Given the description of an element on the screen output the (x, y) to click on. 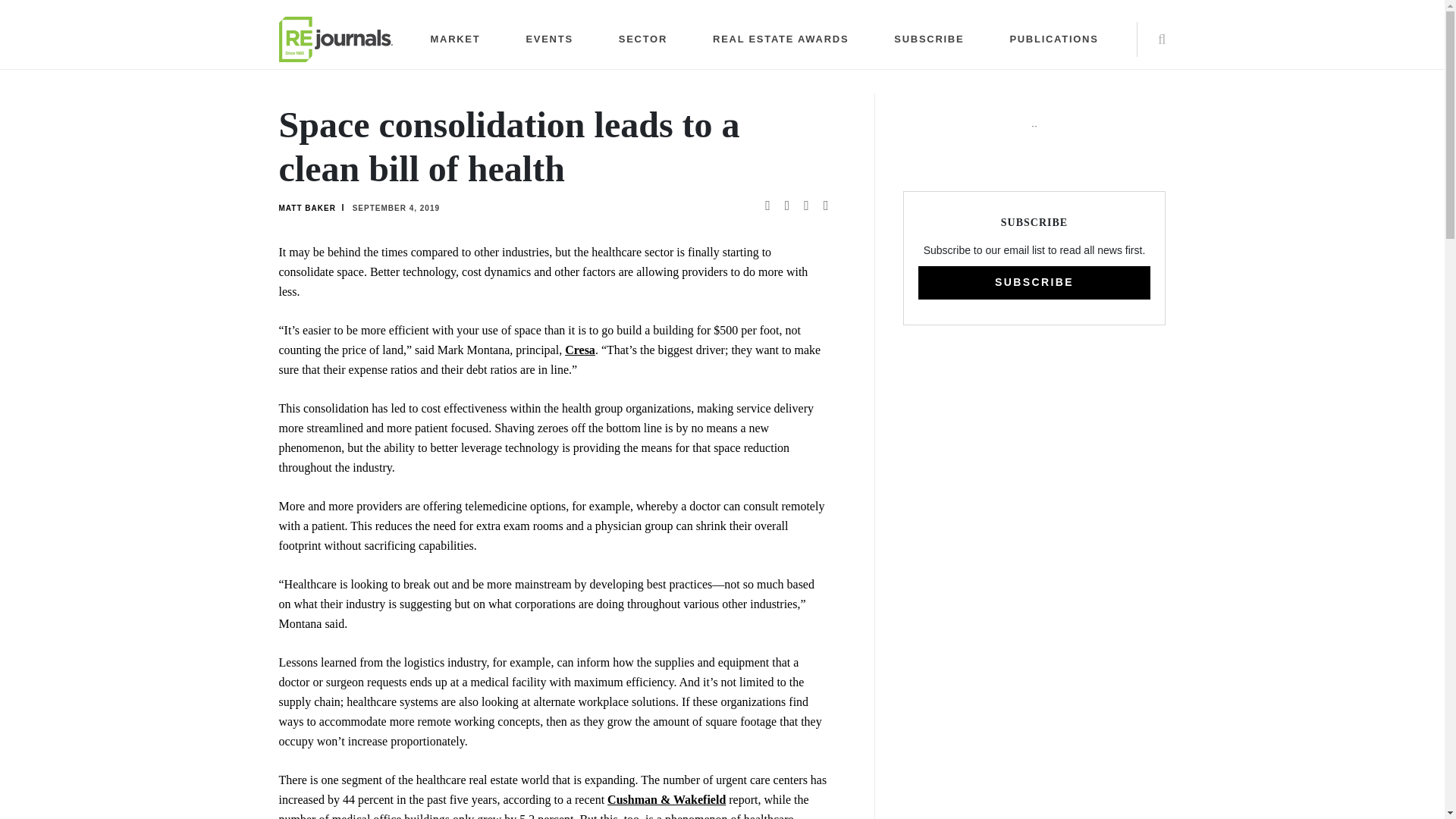
EVENTS (548, 38)
MARKET (454, 38)
SECTOR (642, 38)
